Given the description of an element on the screen output the (x, y) to click on. 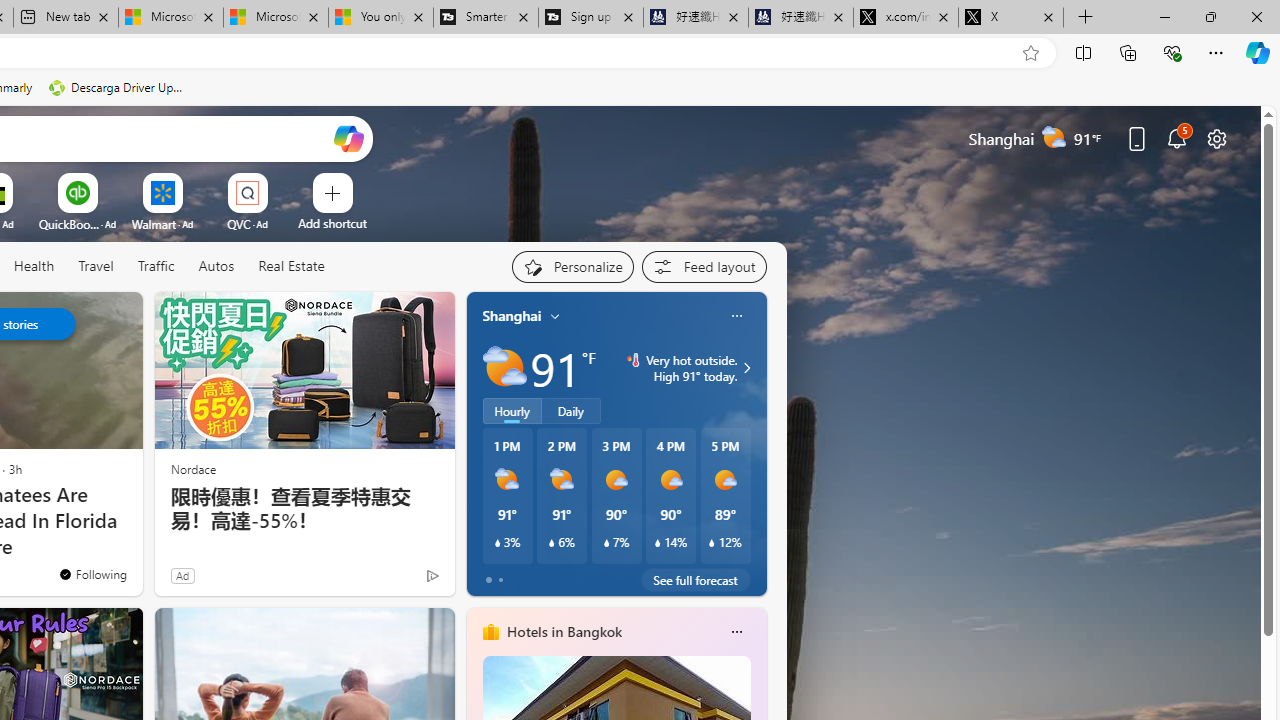
Personalize your feed" (571, 266)
See full forecast (695, 579)
Add a site (332, 223)
